Given the description of an element on the screen output the (x, y) to click on. 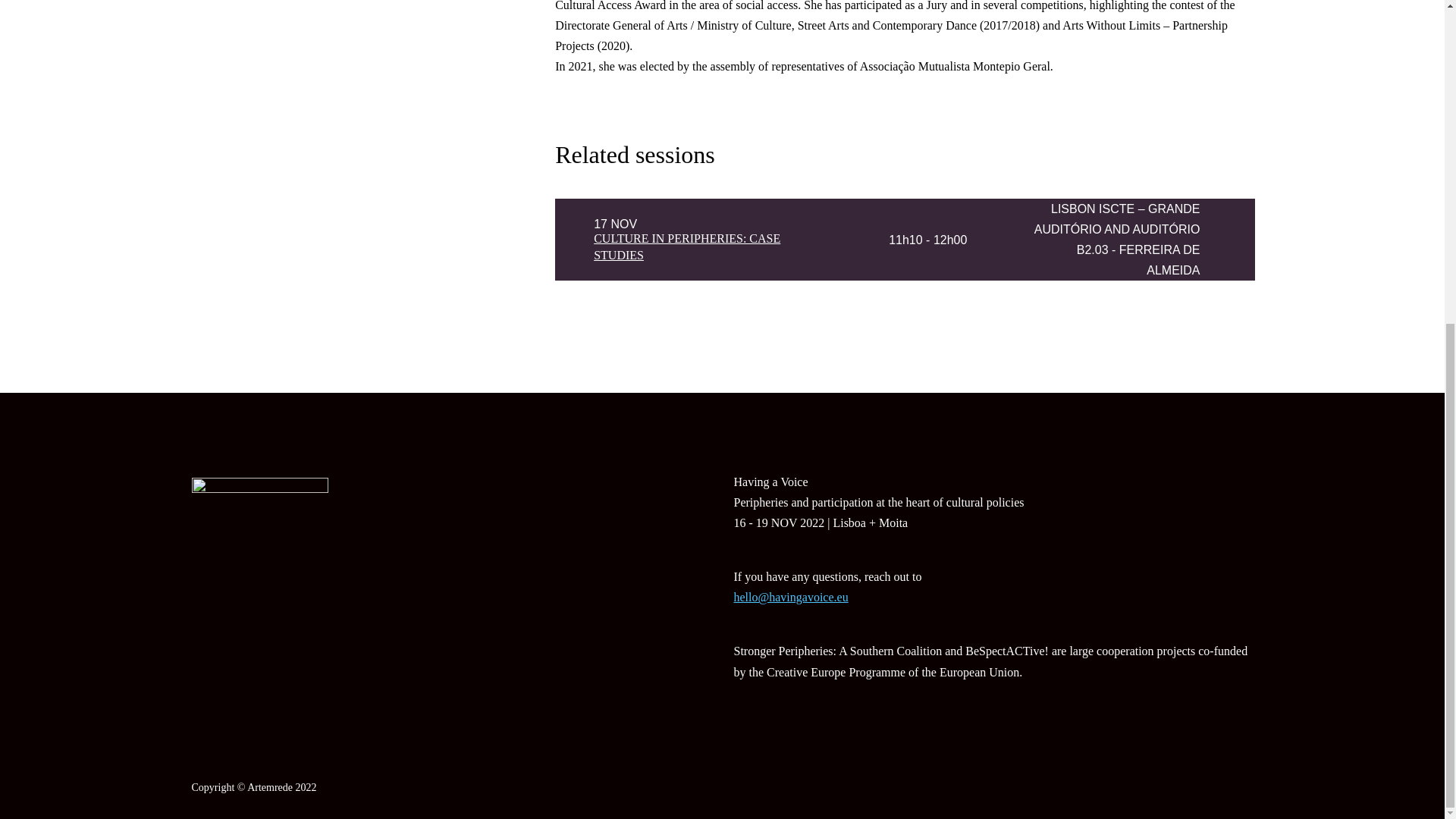
CULTURE IN PERIPHERIES: CASE STUDIES (687, 246)
